Given the description of an element on the screen output the (x, y) to click on. 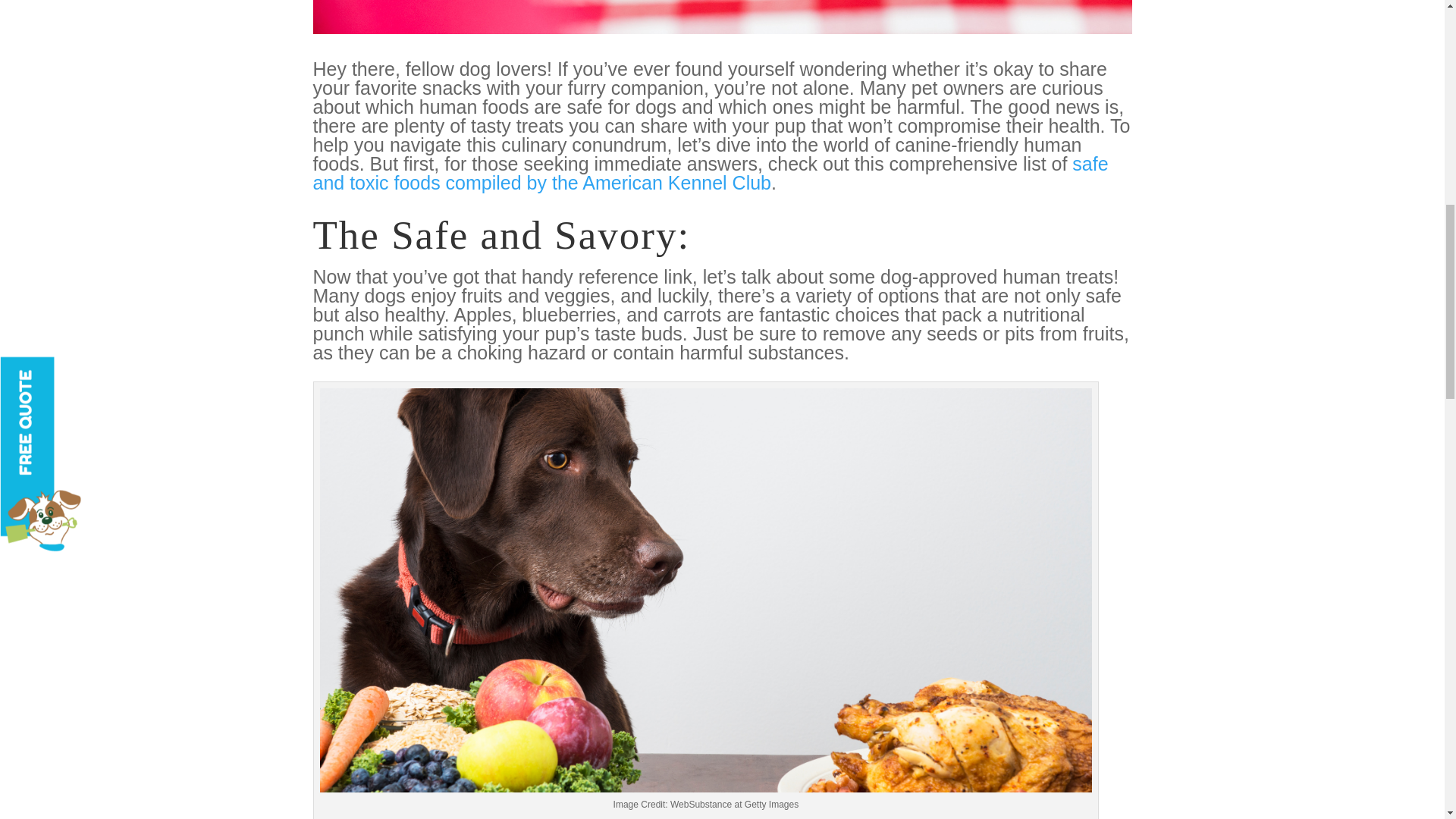
safe and toxic foods compiled by the American Kennel Club (710, 173)
